Given the description of an element on the screen output the (x, y) to click on. 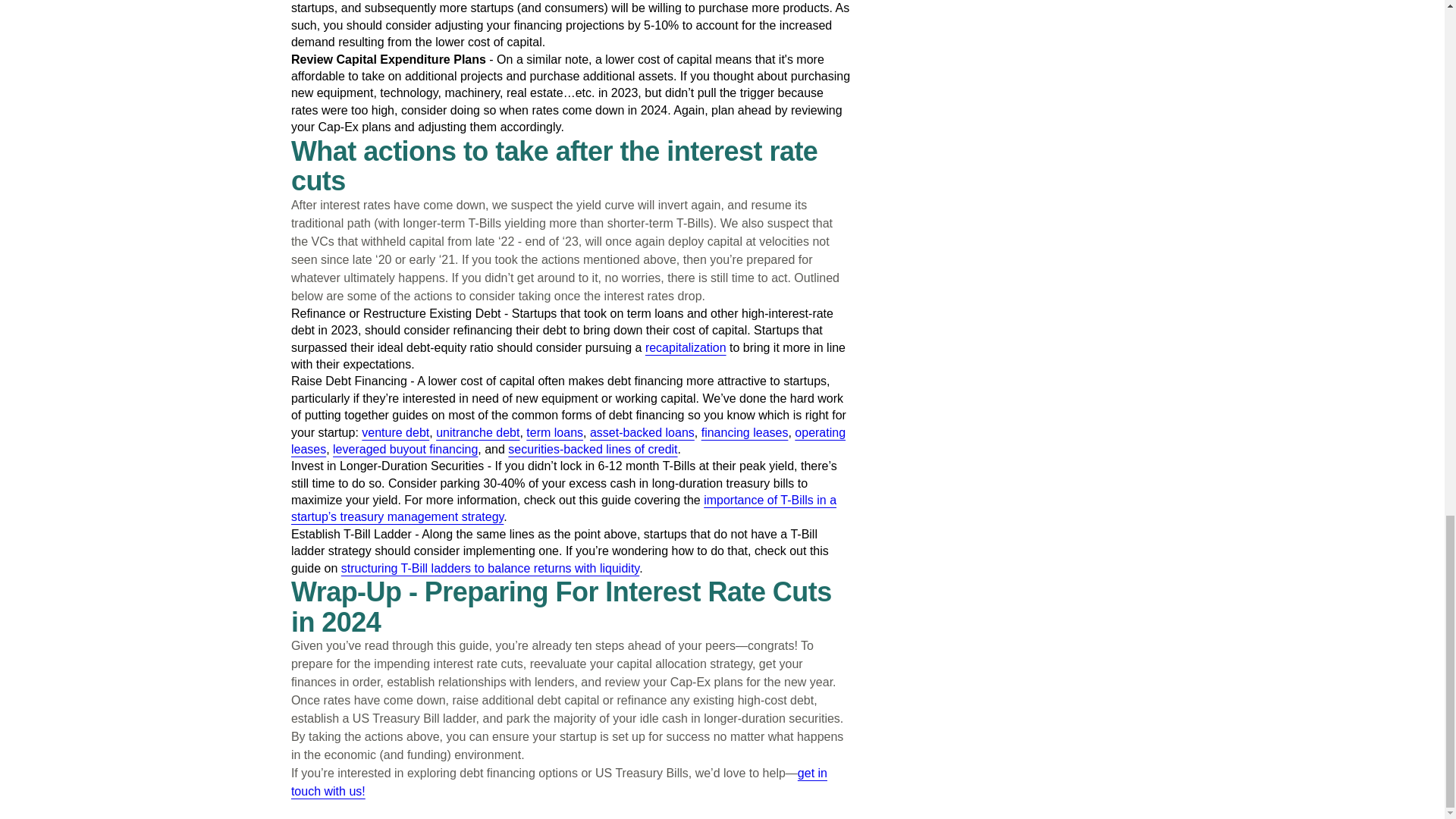
structuring T-Bill ladders to balance returns with liquidity (489, 567)
asset-backed loans (641, 431)
securities-backed lines of credit (592, 449)
operating leases (568, 440)
financing leases (745, 431)
recapitalization (685, 347)
unitranche debt (477, 431)
term loans (554, 431)
venture debt (395, 431)
leveraged buyout financing (405, 449)
